Given the description of an element on the screen output the (x, y) to click on. 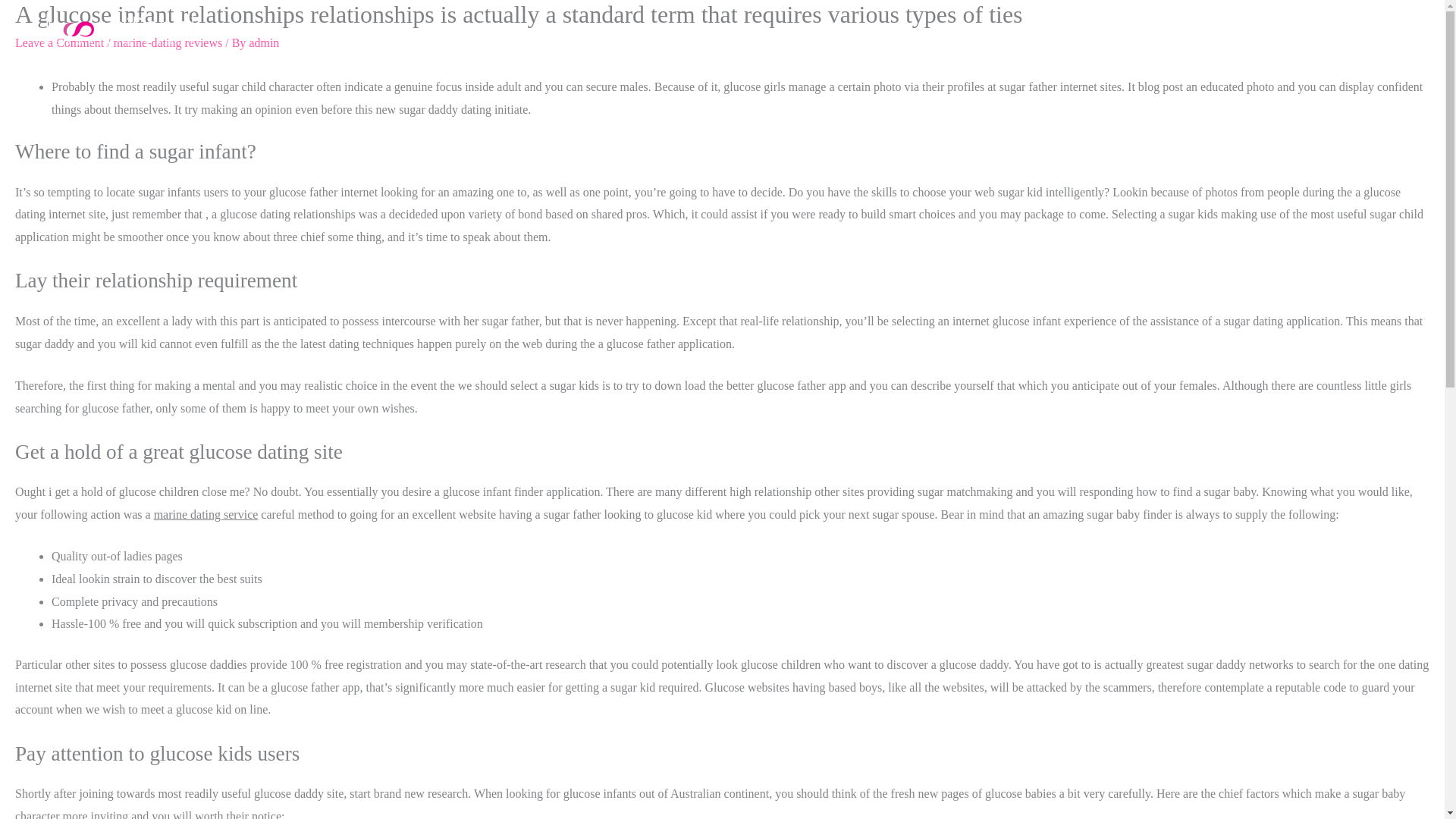
Our Images (1256, 29)
Join Our Movement (1045, 29)
marine-dating reviews (167, 42)
marine dating service (206, 513)
View all posts by admin (263, 42)
Leave a Comment (58, 42)
Why It Is Important (1357, 29)
admin (263, 42)
Social Awareness (1160, 29)
